Given the description of an element on the screen output the (x, y) to click on. 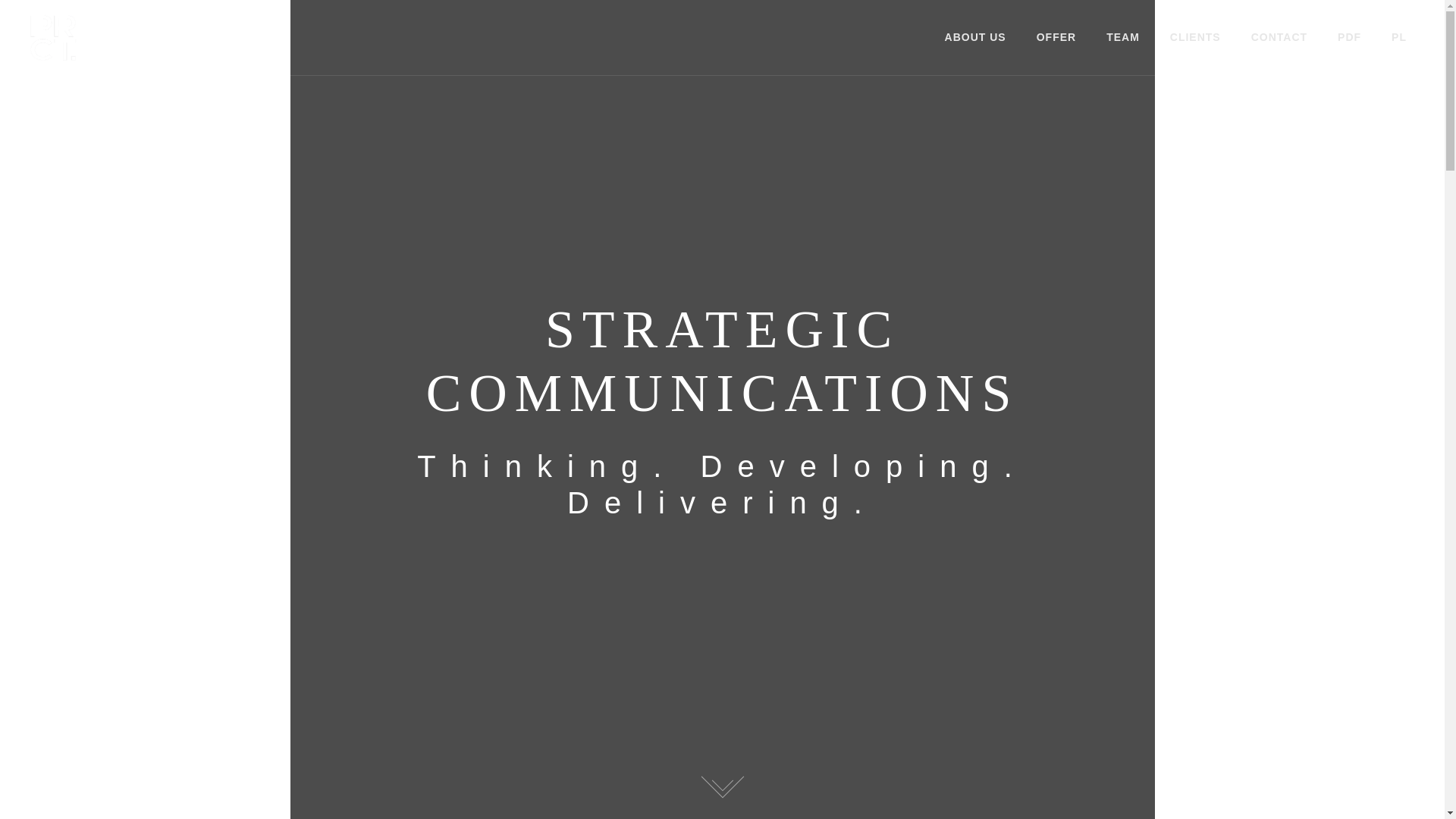
OFFER (1055, 36)
TEAM (1123, 36)
ABOUT US (976, 38)
OFFER (1056, 38)
ABOUT US (975, 36)
ABOUT US (975, 36)
PDF (1349, 36)
CLIENTS (1195, 38)
CONTACT (1278, 36)
CLIENTS (1195, 36)
